Given the description of an element on the screen output the (x, y) to click on. 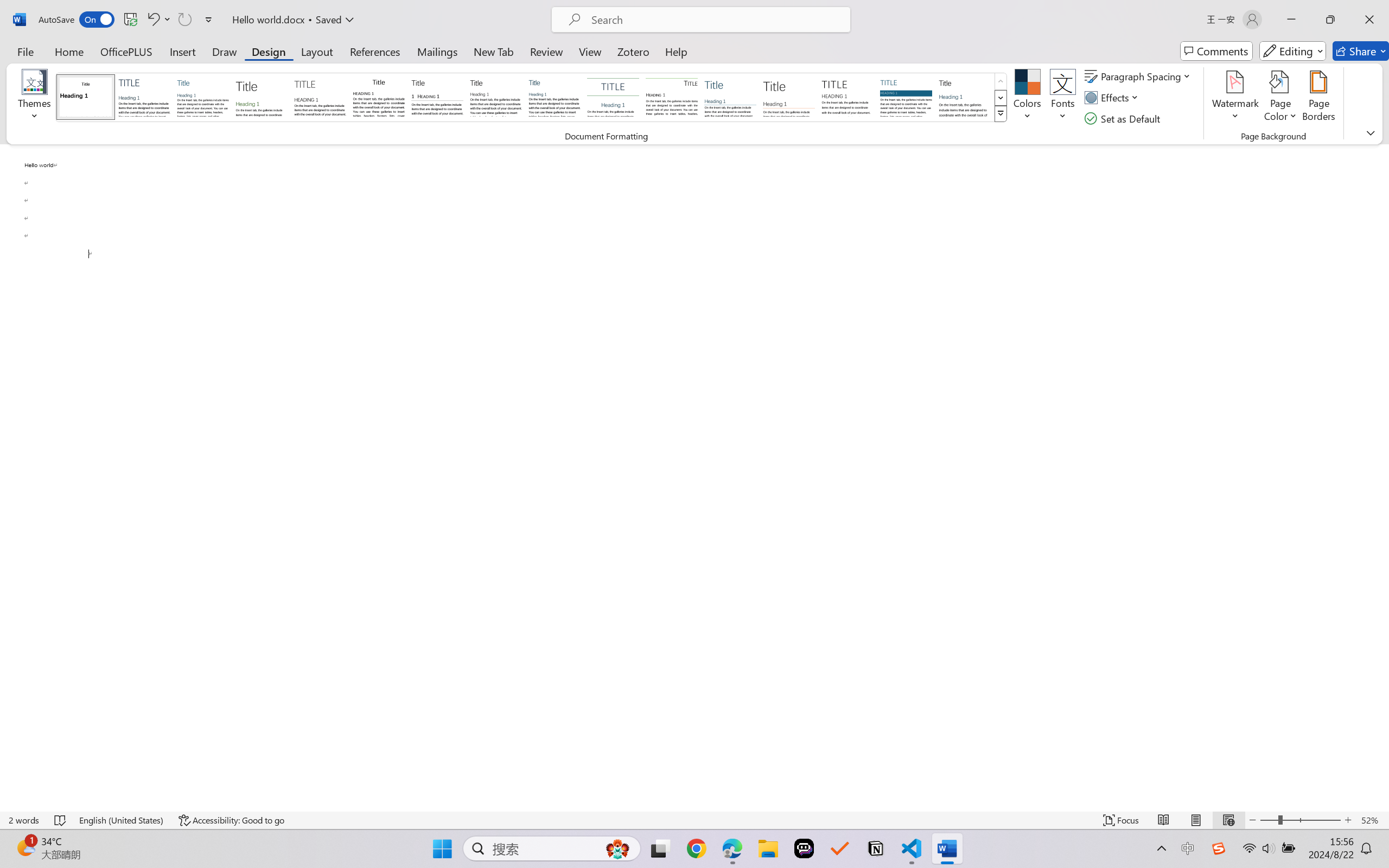
Spelling and Grammar Check No Errors (60, 819)
View (589, 51)
Zoom 52% (1372, 819)
Customize Quick Access Toolbar (208, 19)
Word Count 2 words (23, 819)
Basic (Simple) (202, 96)
Can't Repeat (184, 19)
Undo Click and Type Formatting (152, 19)
Restore Down (1330, 19)
Ribbon Display Options (1370, 132)
Review (546, 51)
Accessibility Checker Accessibility: Good to go (231, 819)
Editing (1292, 50)
Black & White (Capitalized) (320, 96)
